Given the description of an element on the screen output the (x, y) to click on. 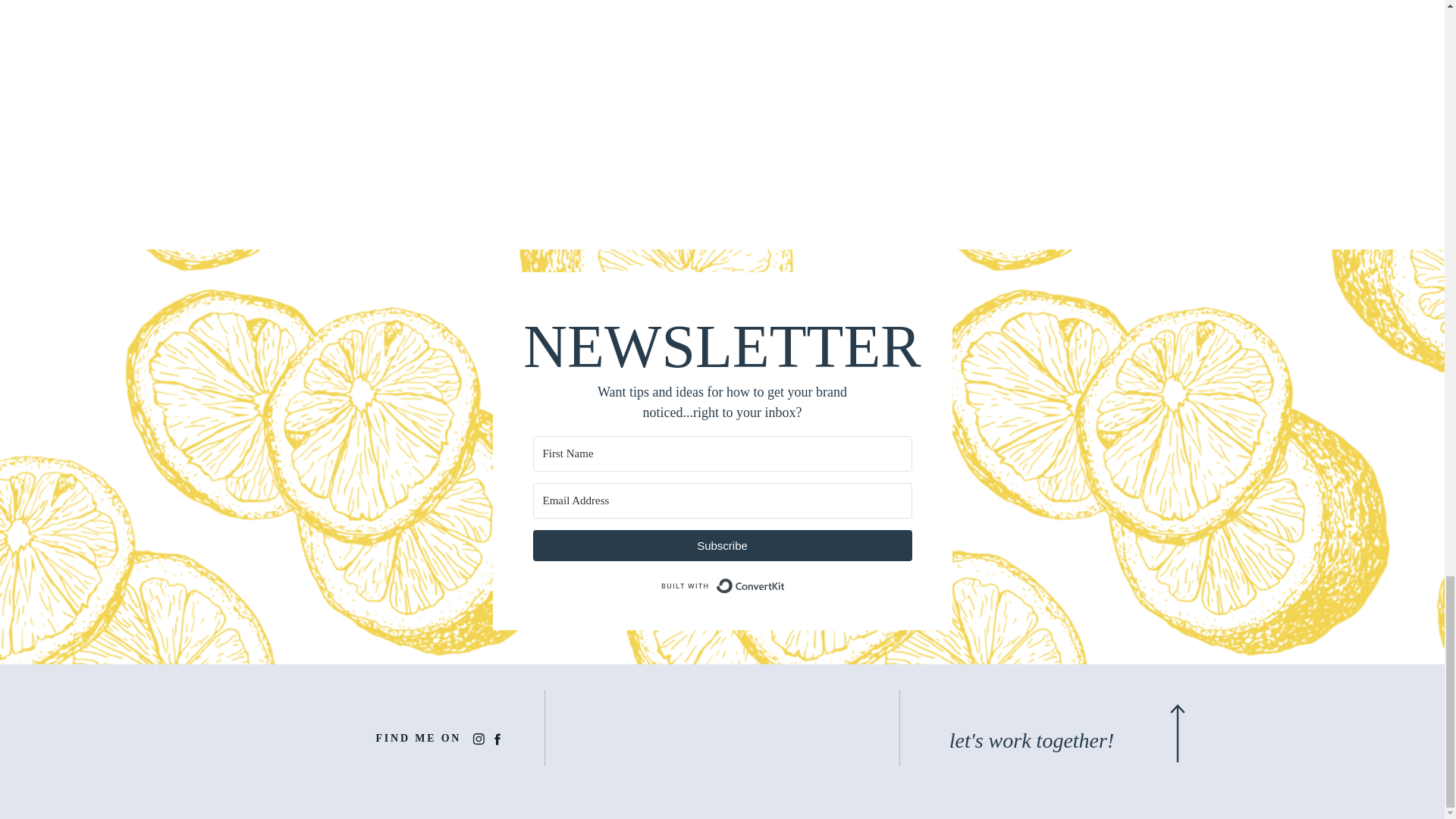
Subscribe (721, 545)
Instagram-color Created with Sketch. (477, 738)
FIND ME ON (420, 739)
Instagram-color Created with Sketch. (477, 738)
let's work together! (1031, 743)
NEWSLETTER (722, 342)
Built with ConvertKit (722, 585)
